Given the description of an element on the screen output the (x, y) to click on. 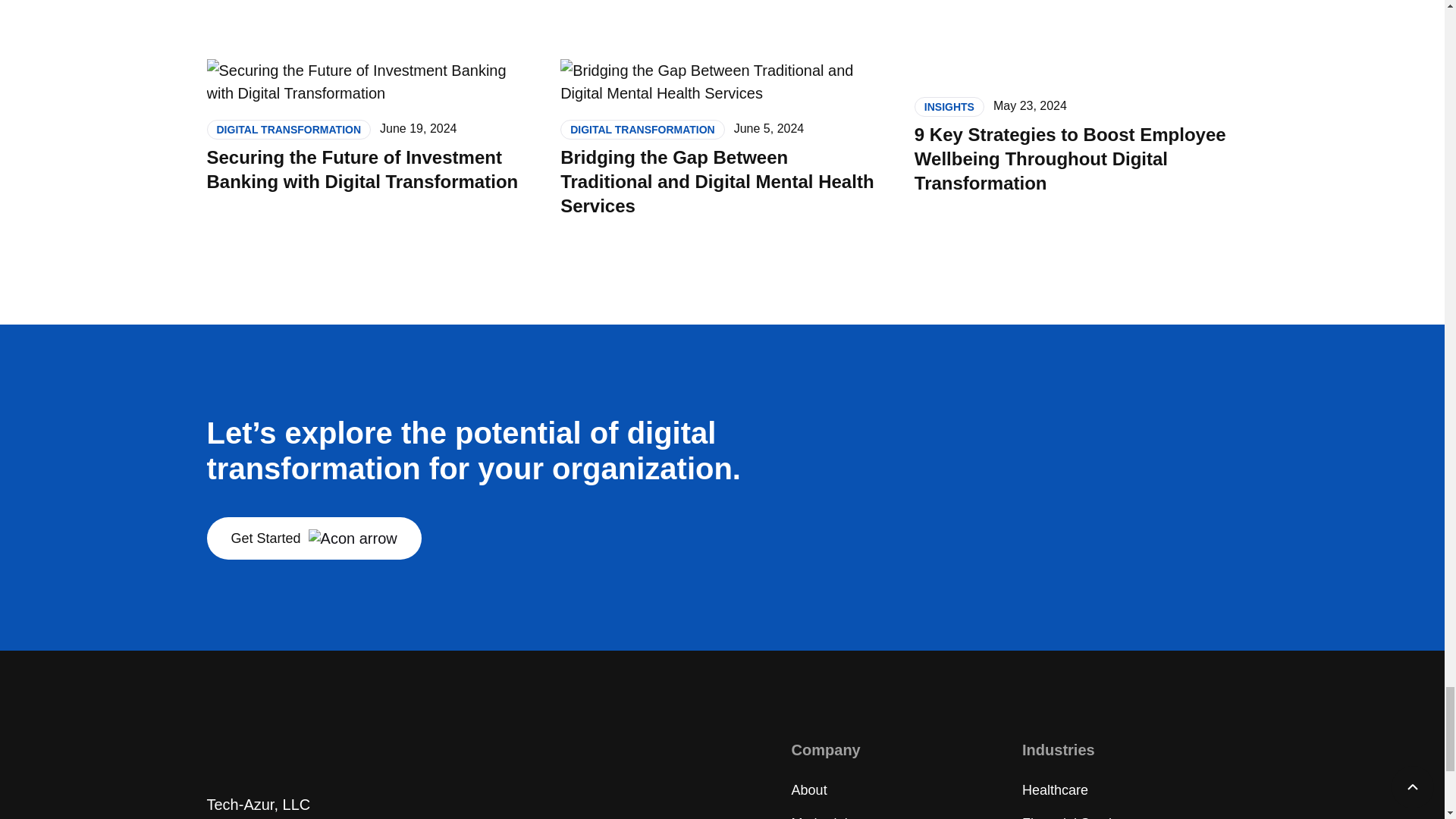
Get Started (313, 537)
Healthcare (1054, 789)
About (809, 789)
Financial Services (1077, 817)
Methodology (830, 817)
